Given the description of an element on the screen output the (x, y) to click on. 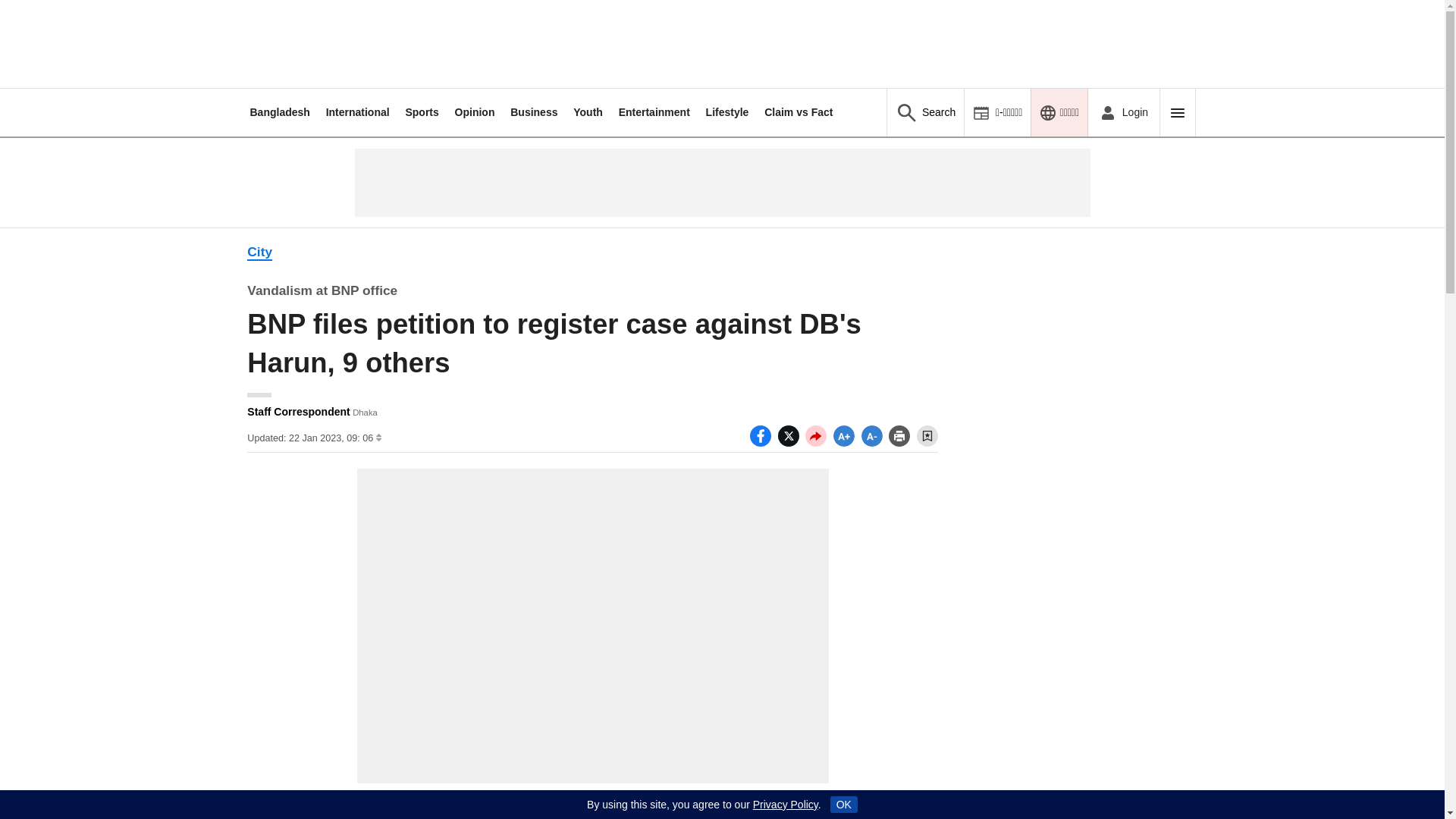
Lifestyle (727, 111)
Search (924, 112)
International (358, 111)
Privacy Policy (785, 804)
OK (843, 804)
Login (1122, 112)
Business (534, 111)
Bangladesh (278, 111)
City (259, 252)
Sports (421, 111)
